Given the description of an element on the screen output the (x, y) to click on. 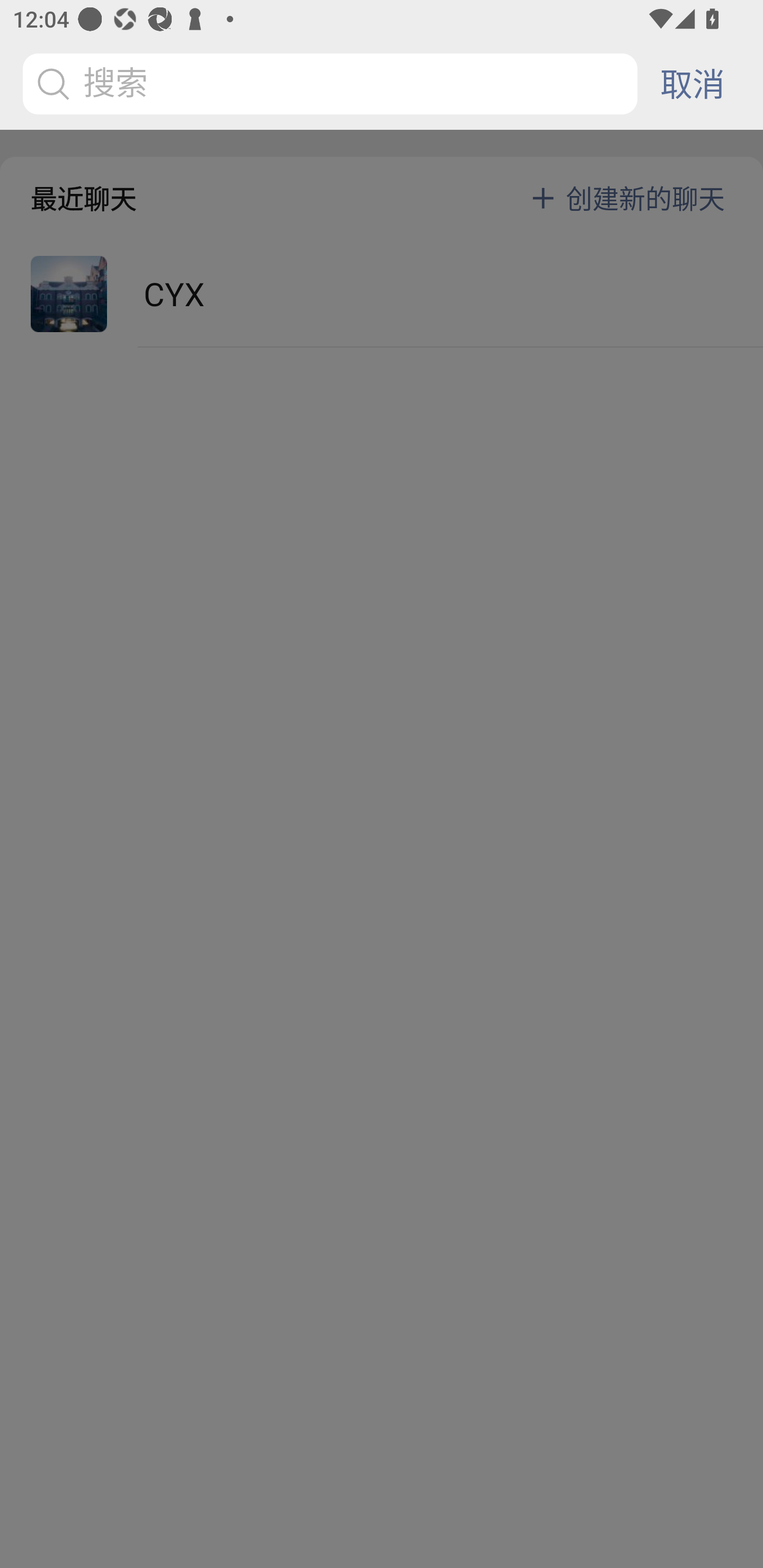
取消 (692, 83)
搜索 (333, 83)
